Given the description of an element on the screen output the (x, y) to click on. 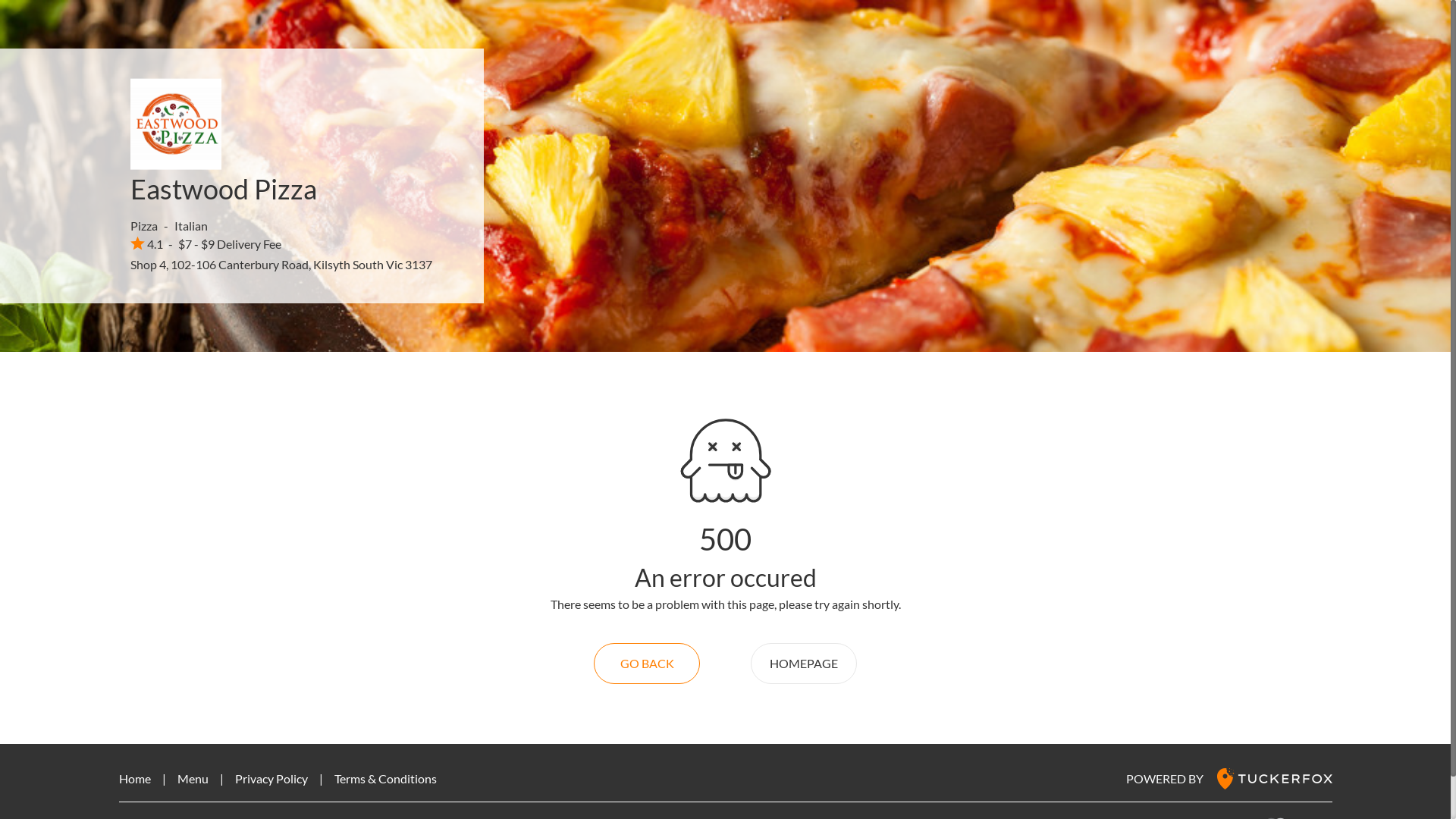
Terms & Conditions Element type: text (384, 778)
GO BACK Element type: text (646, 663)
Eastwood Pizza Element type: text (223, 188)
Home Element type: text (134, 778)
4.1 Element type: text (146, 243)
Menu Element type: text (192, 778)
HOMEPAGE Element type: text (803, 663)
Privacy Policy Element type: text (271, 778)
